Given the description of an element on the screen output the (x, y) to click on. 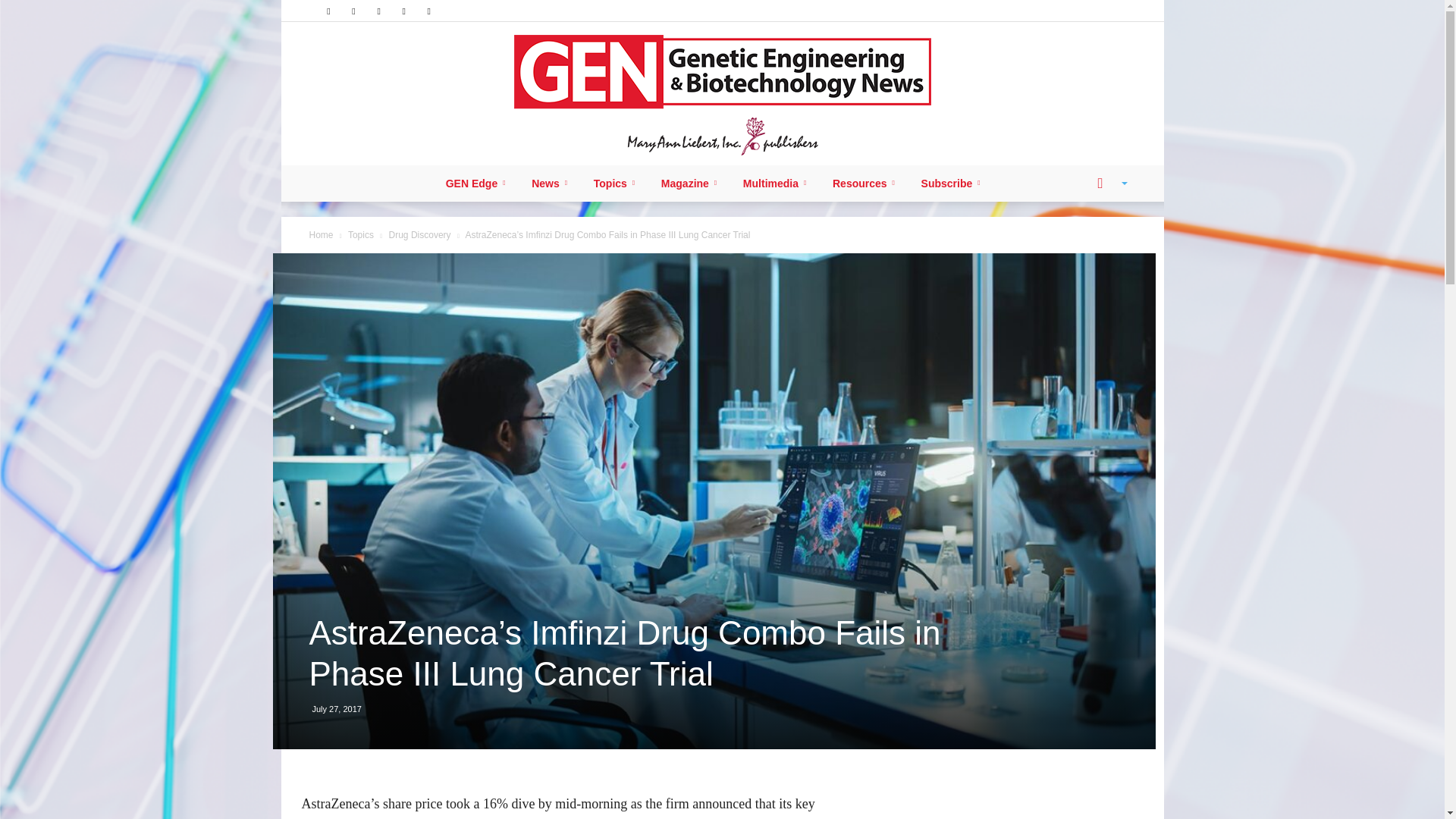
Facebook (328, 10)
View all posts in Drug Discovery (419, 235)
Youtube (429, 10)
RSS (379, 10)
View all posts in Topics (360, 235)
Twitter (403, 10)
Linkedin (353, 10)
